Given the description of an element on the screen output the (x, y) to click on. 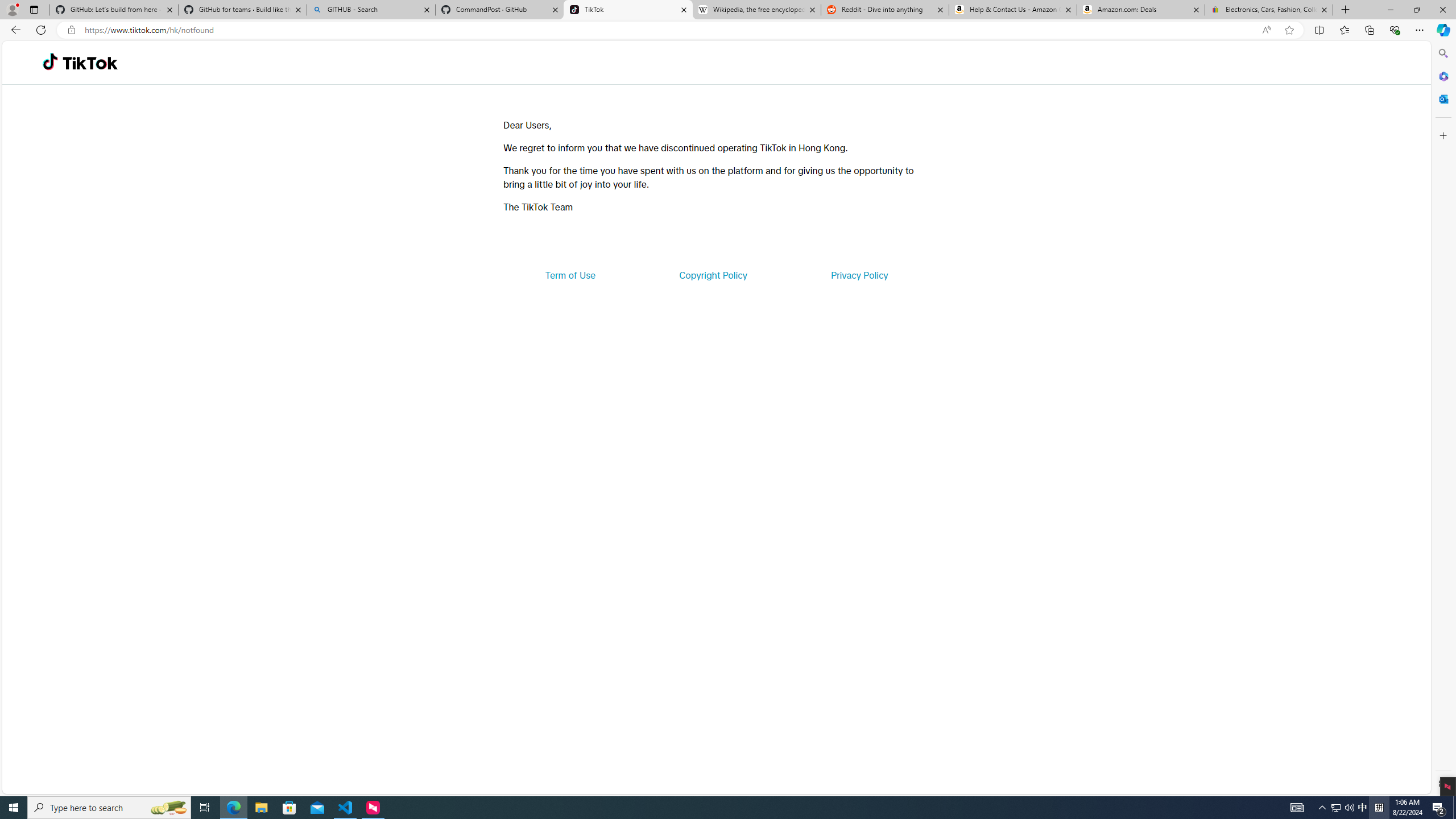
Close Outlook pane (1442, 98)
Privacy Policy (858, 274)
Reddit - Dive into anything (884, 9)
Restore (1416, 9)
Browser essentials (1394, 29)
TikTok (628, 9)
Close (1442, 9)
GITHUB - Search (370, 9)
Refresh (40, 29)
New Tab (1346, 9)
